Given the description of an element on the screen output the (x, y) to click on. 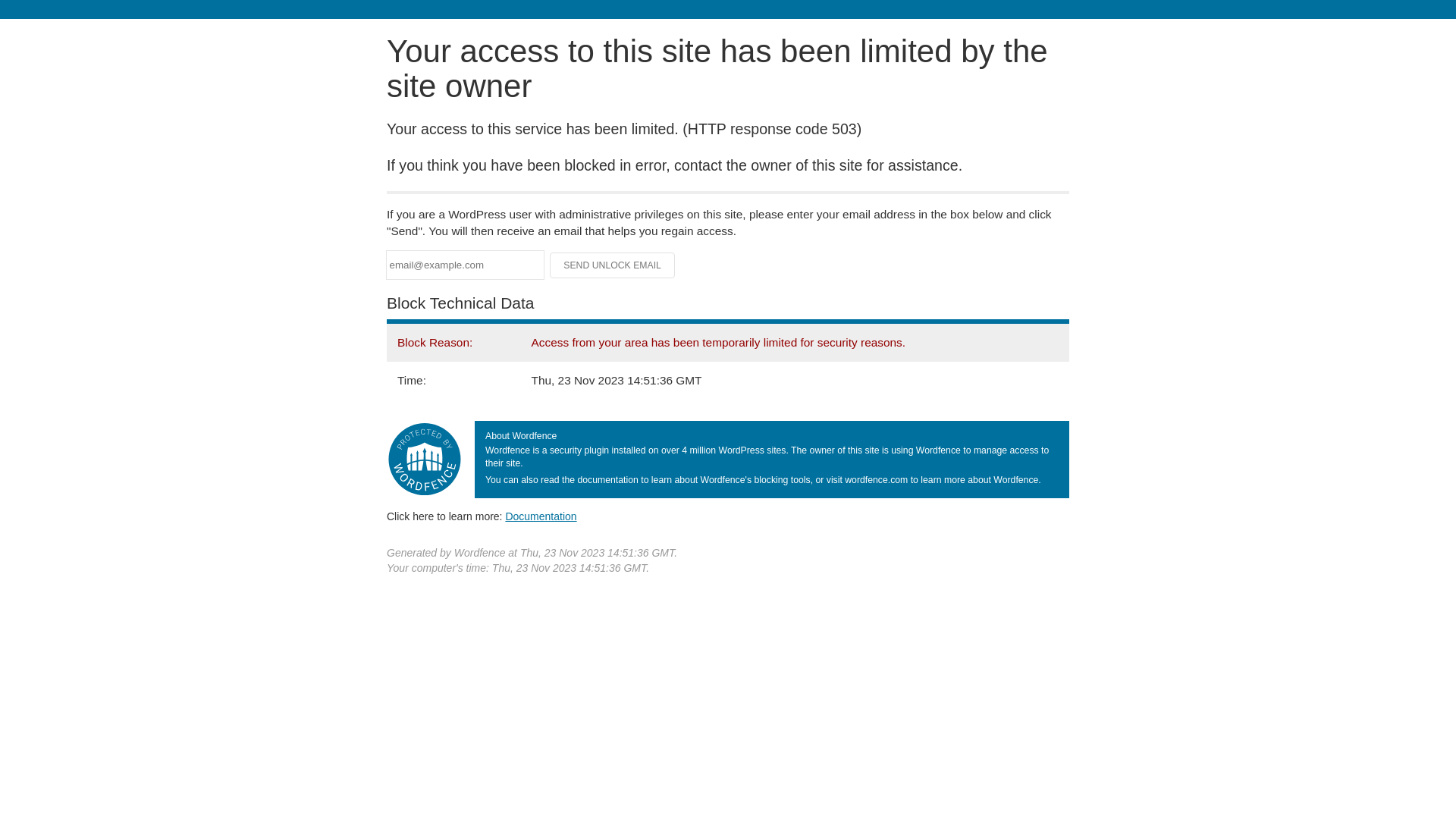
Send Unlock Email Element type: text (612, 265)
Documentation Element type: text (540, 516)
